Given the description of an element on the screen output the (x, y) to click on. 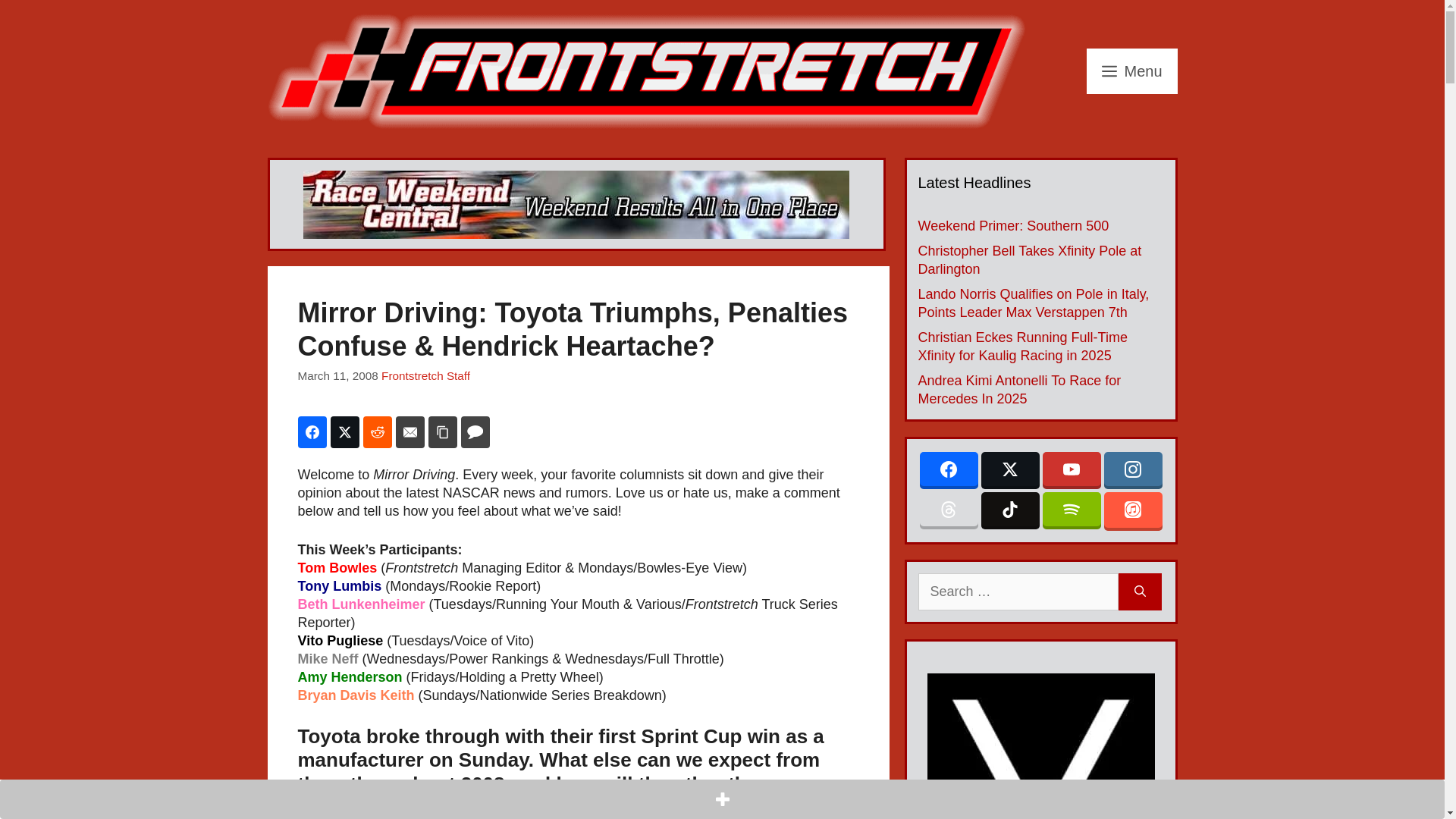
Share on Comments (475, 431)
Share on Email (410, 431)
Share on Copy Link (442, 431)
Menu (1131, 71)
Share on Twitter (344, 431)
Search for: (1017, 591)
Share on Reddit (376, 431)
Share on Facebook (311, 431)
Frontstretch Staff (425, 375)
